Given the description of an element on the screen output the (x, y) to click on. 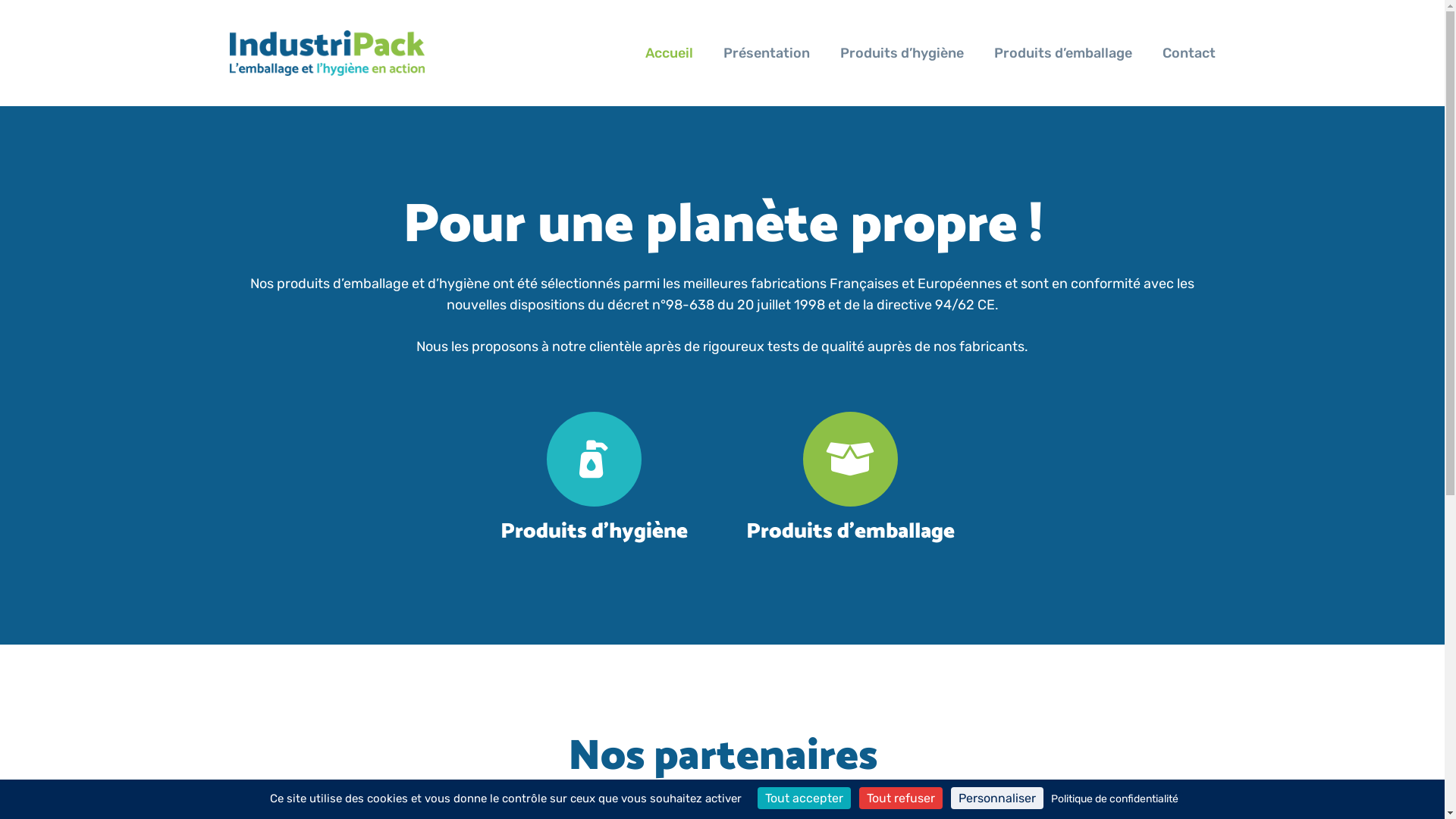
Tout refuser Element type: text (899, 798)
Personnaliser Element type: text (996, 798)
Contact Element type: text (1188, 53)
Accueil Element type: text (669, 53)
Tout accepter Element type: text (803, 798)
